Given the description of an element on the screen output the (x, y) to click on. 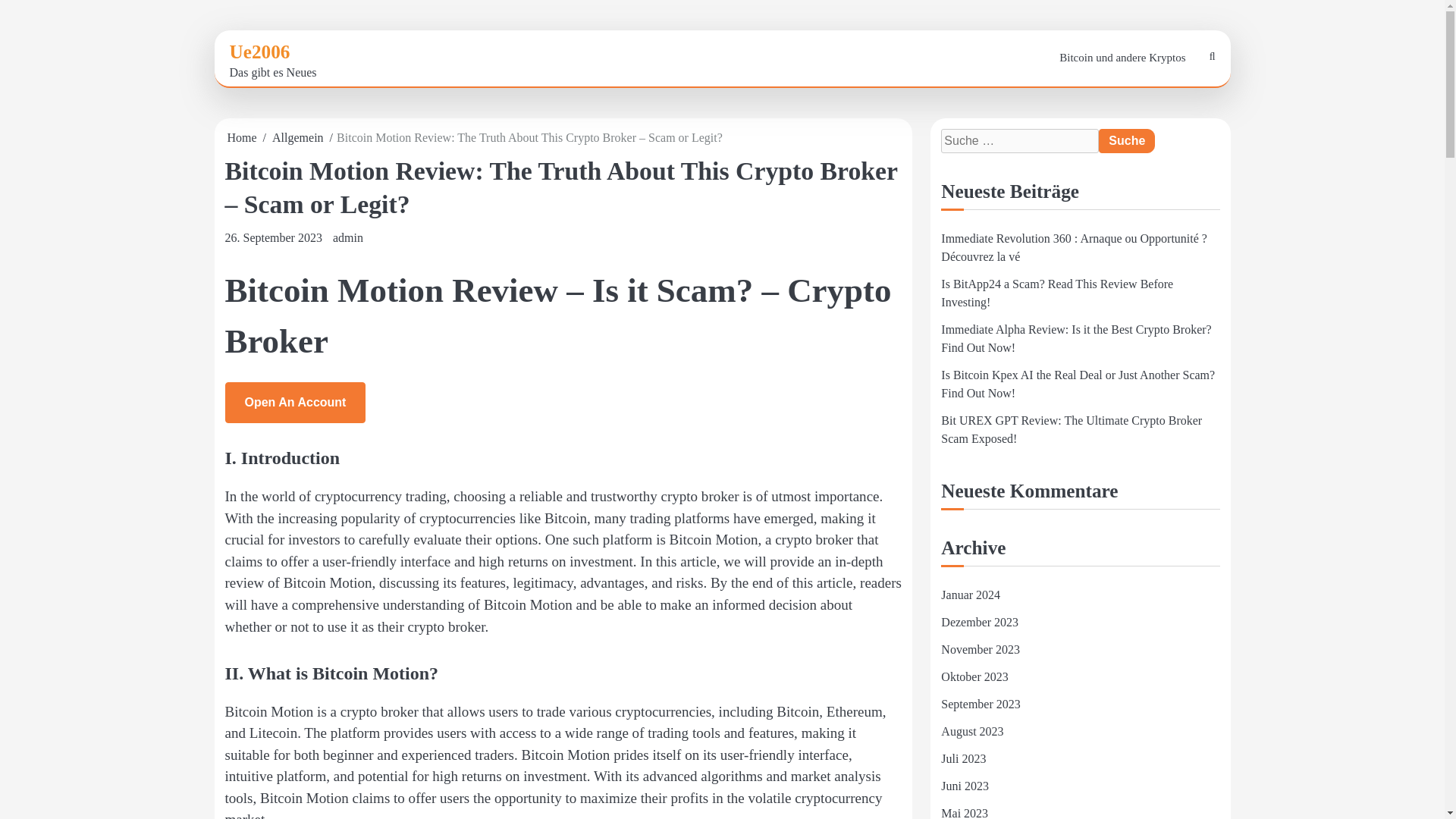
Januar 2024 (970, 594)
Home (242, 137)
Dezember 2023 (978, 621)
Suche (1176, 99)
Juni 2023 (964, 785)
Bitcoin und andere Kryptos (1121, 58)
Suche (1126, 140)
Is BitApp24 a Scam? Read This Review Before Investing! (1056, 292)
November 2023 (980, 649)
Oktober 2023 (973, 676)
Suche (1126, 140)
Ue2006 (258, 51)
Allgemein (297, 137)
